Given the description of an element on the screen output the (x, y) to click on. 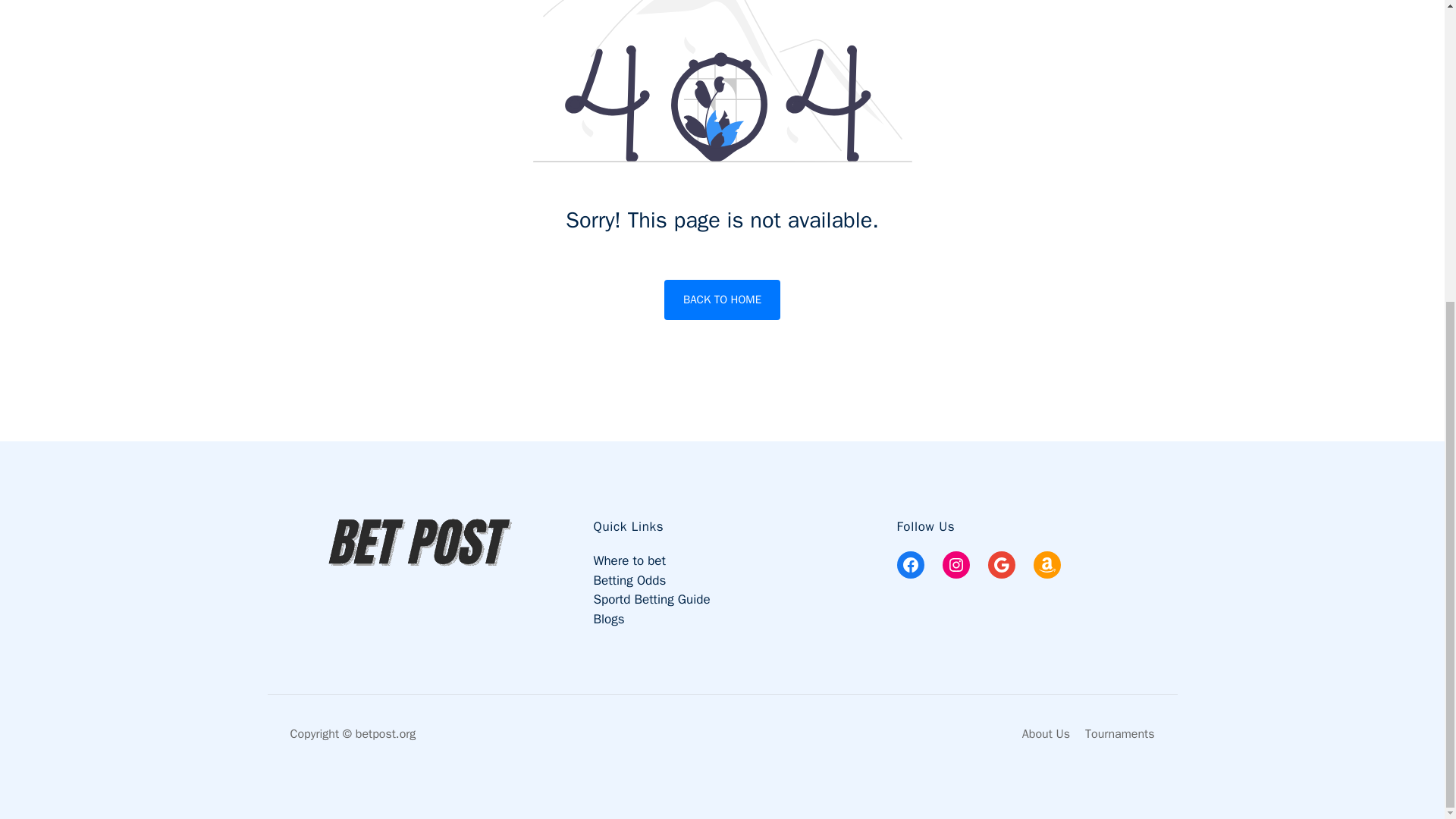
BACK TO HOME (721, 300)
Tournaments (1119, 734)
cropped-output-onlinepngtools.png (418, 543)
About Us (1046, 734)
